Given the description of an element on the screen output the (x, y) to click on. 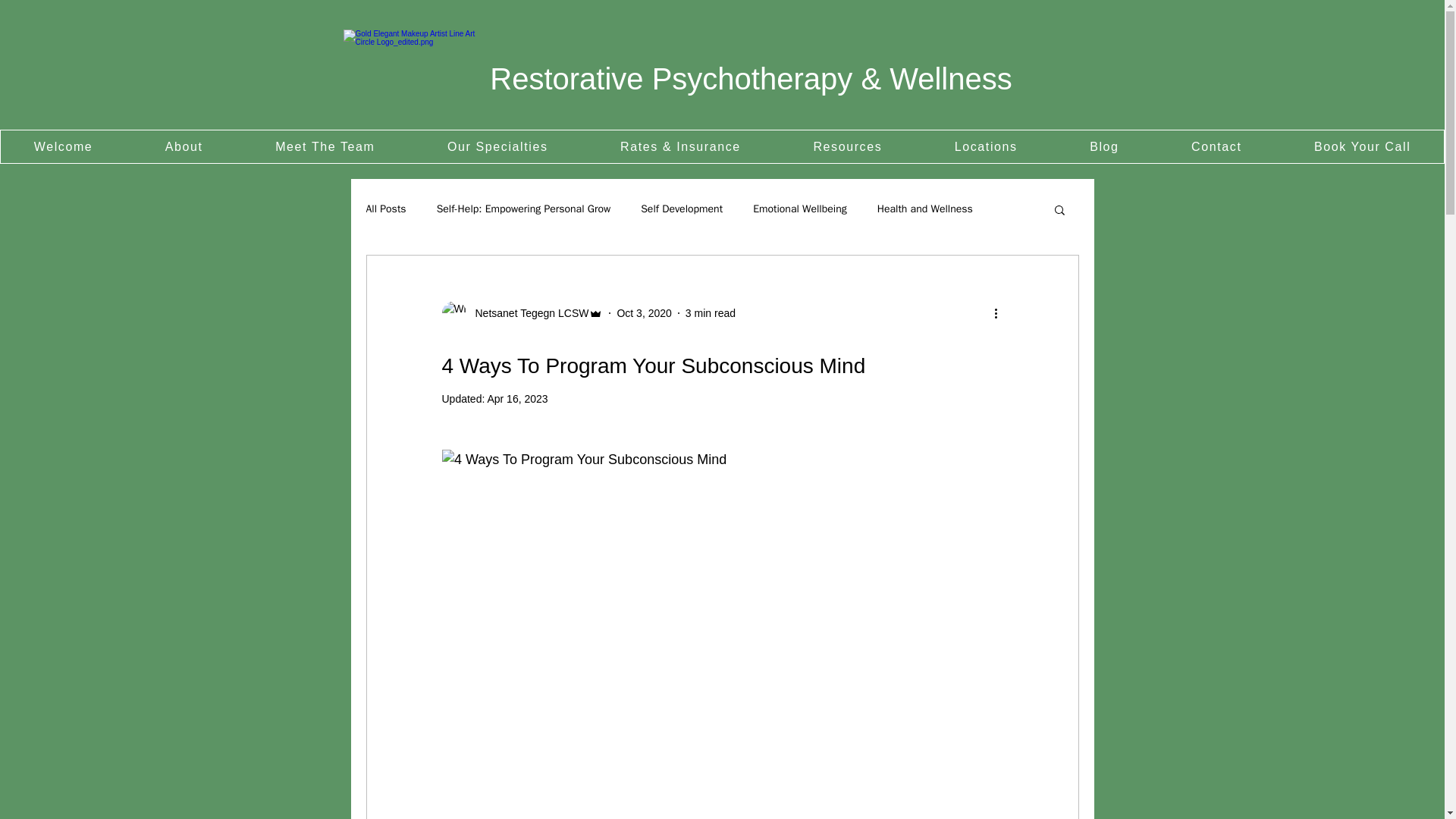
Emotional Wellbeing (799, 209)
About (183, 146)
Health and Wellness (924, 209)
Netsanet Tegegn LCSW  (526, 312)
Netsanet Tegegn LCSW (521, 313)
Self Development (681, 209)
Self-Help: Empowering Personal Grow (523, 209)
Apr 16, 2023 (516, 398)
Oct 3, 2020 (643, 312)
Contact (1216, 146)
